Given the description of an element on the screen output the (x, y) to click on. 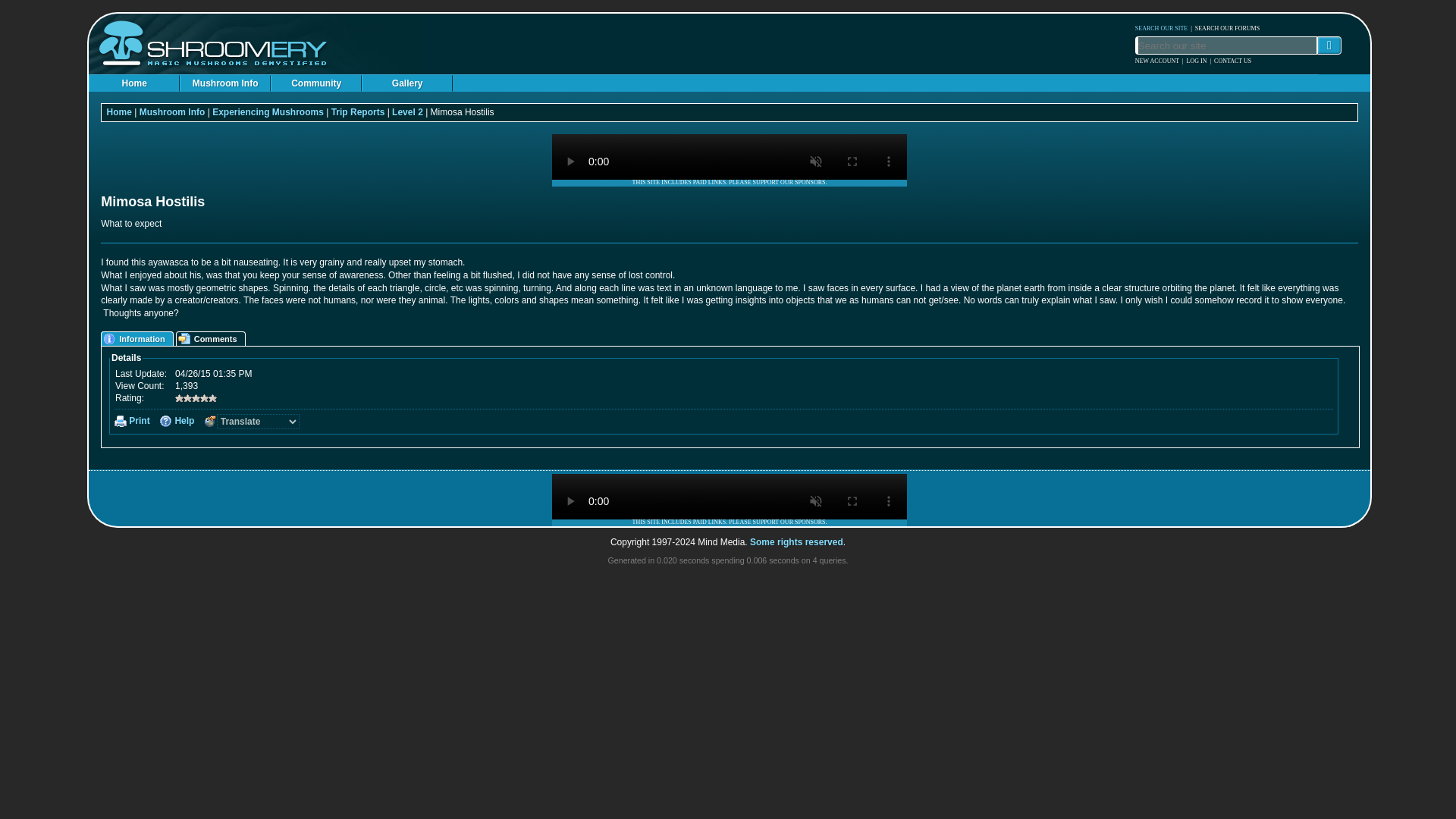
SporesMD (729, 156)
Mushroom Info (224, 83)
SporesMD (729, 496)
Home (133, 83)
SEARCH OUR FORUMS (1227, 27)
LOG IN (1196, 60)
View information about this resource. (138, 338)
CONTACT US (1232, 60)
Read and post comments on this resource. (211, 338)
SEARCH OUR SITE (1161, 27)
NEW ACCOUNT (1157, 60)
